Given the description of an element on the screen output the (x, y) to click on. 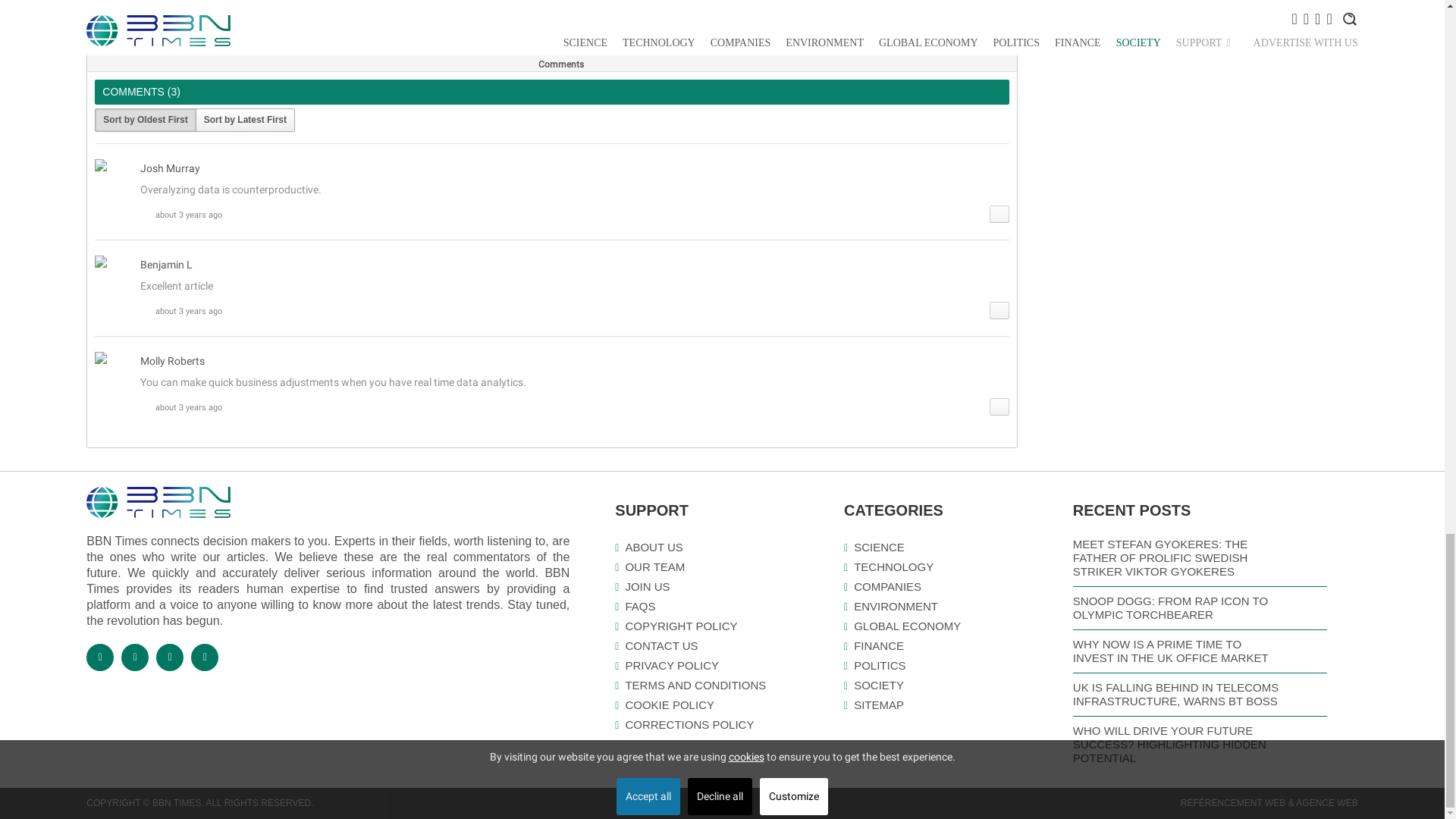
Reply (999, 406)
Reply (999, 310)
Reply (999, 213)
